Given the description of an element on the screen output the (x, y) to click on. 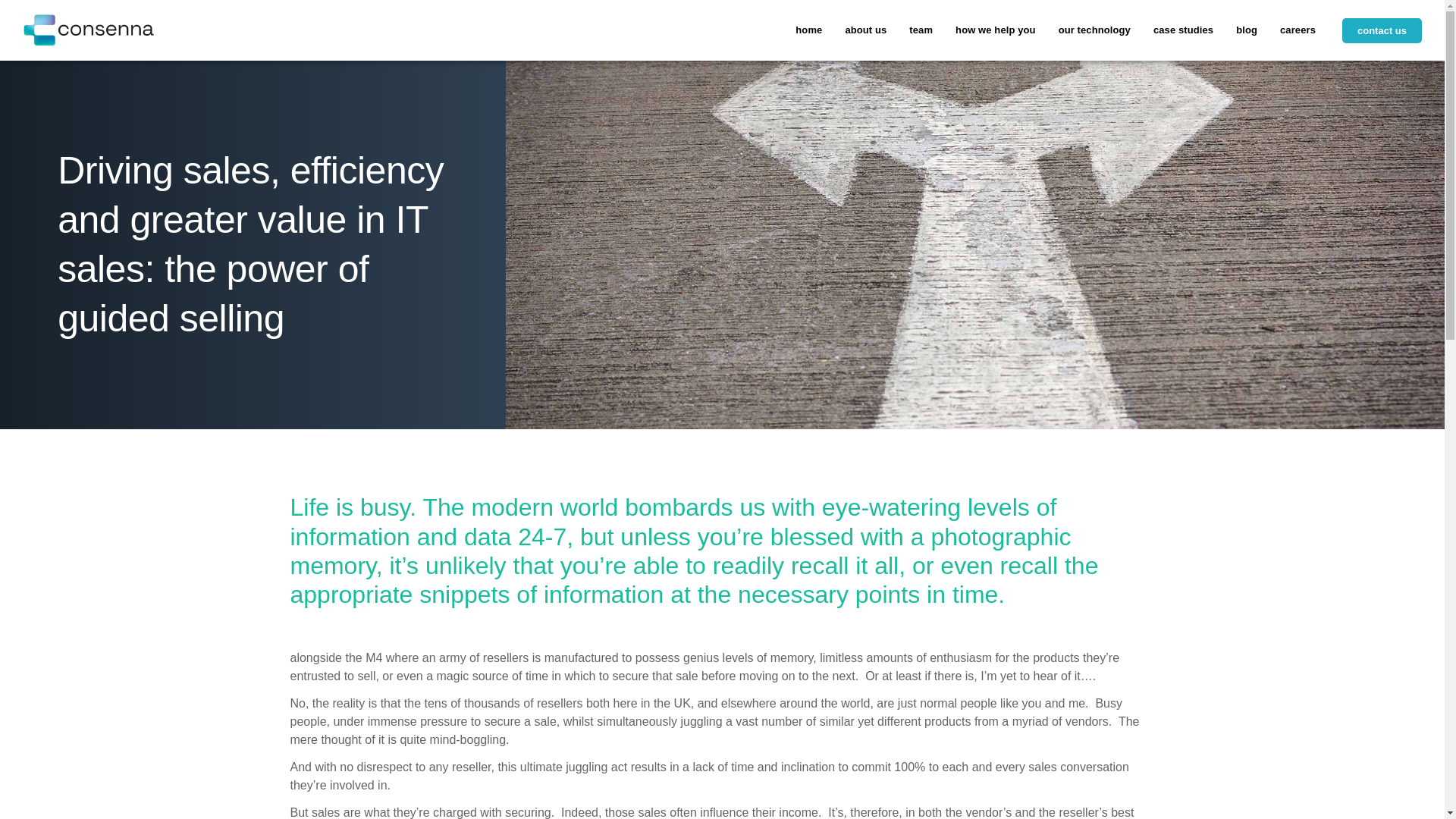
contact us (1382, 30)
home (808, 30)
how we help you (994, 30)
our technology (1093, 30)
about us (865, 30)
team (920, 30)
blog (1246, 30)
case studies (1182, 30)
careers (1297, 30)
